Given the description of an element on the screen output the (x, y) to click on. 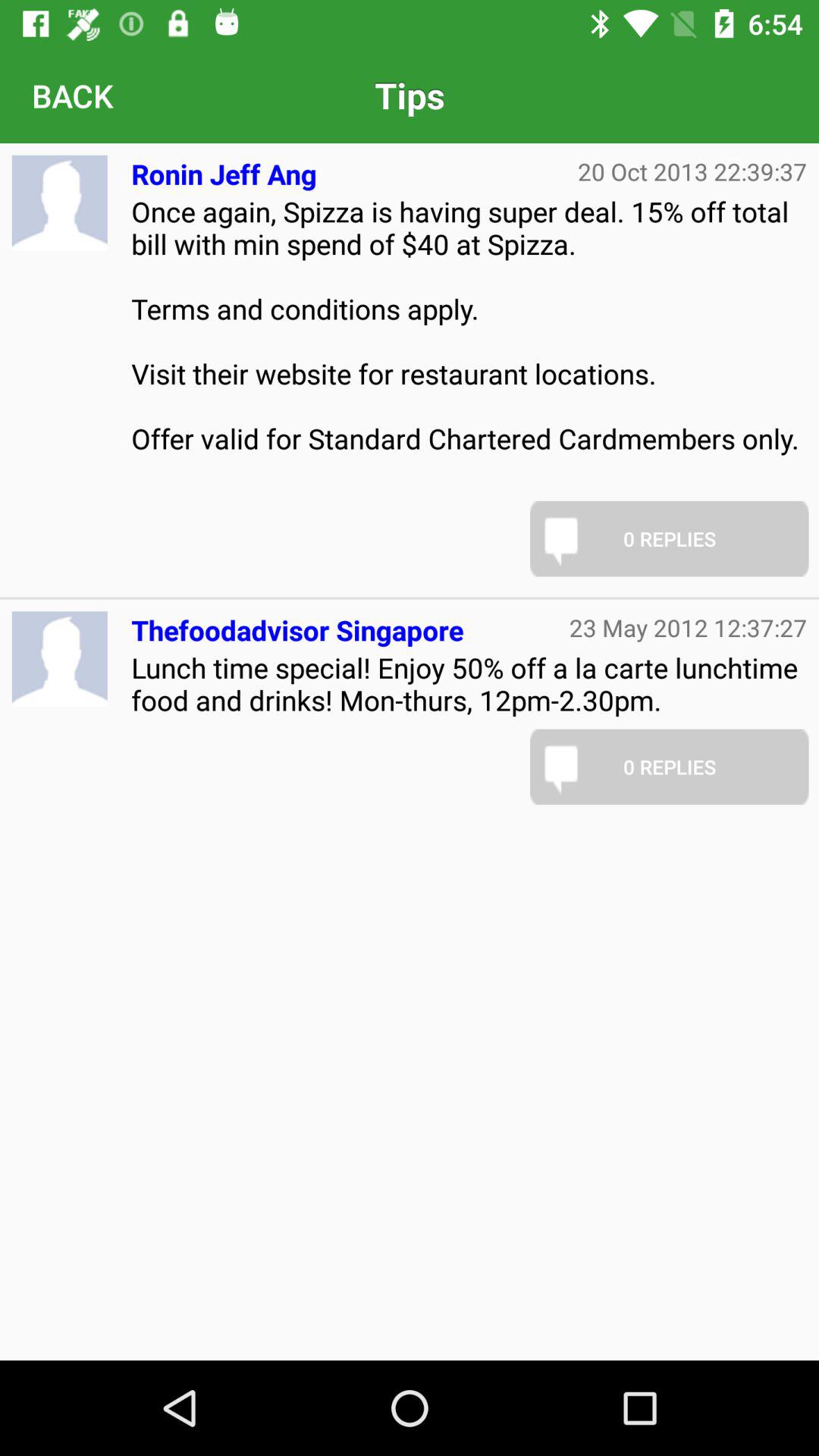
click item below once again spizza (297, 623)
